Given the description of an element on the screen output the (x, y) to click on. 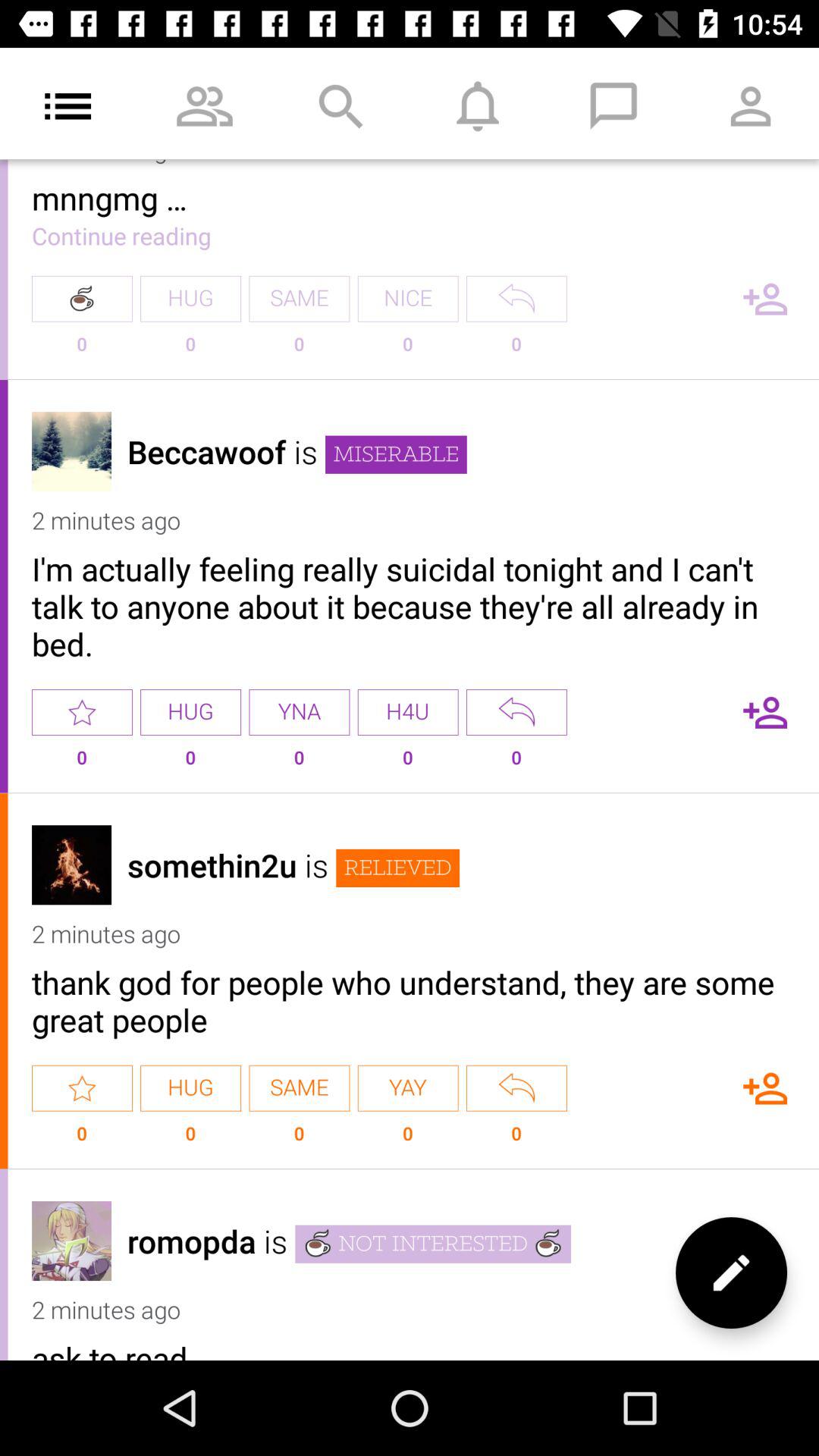
star power vote option (81, 1088)
